Given the description of an element on the screen output the (x, y) to click on. 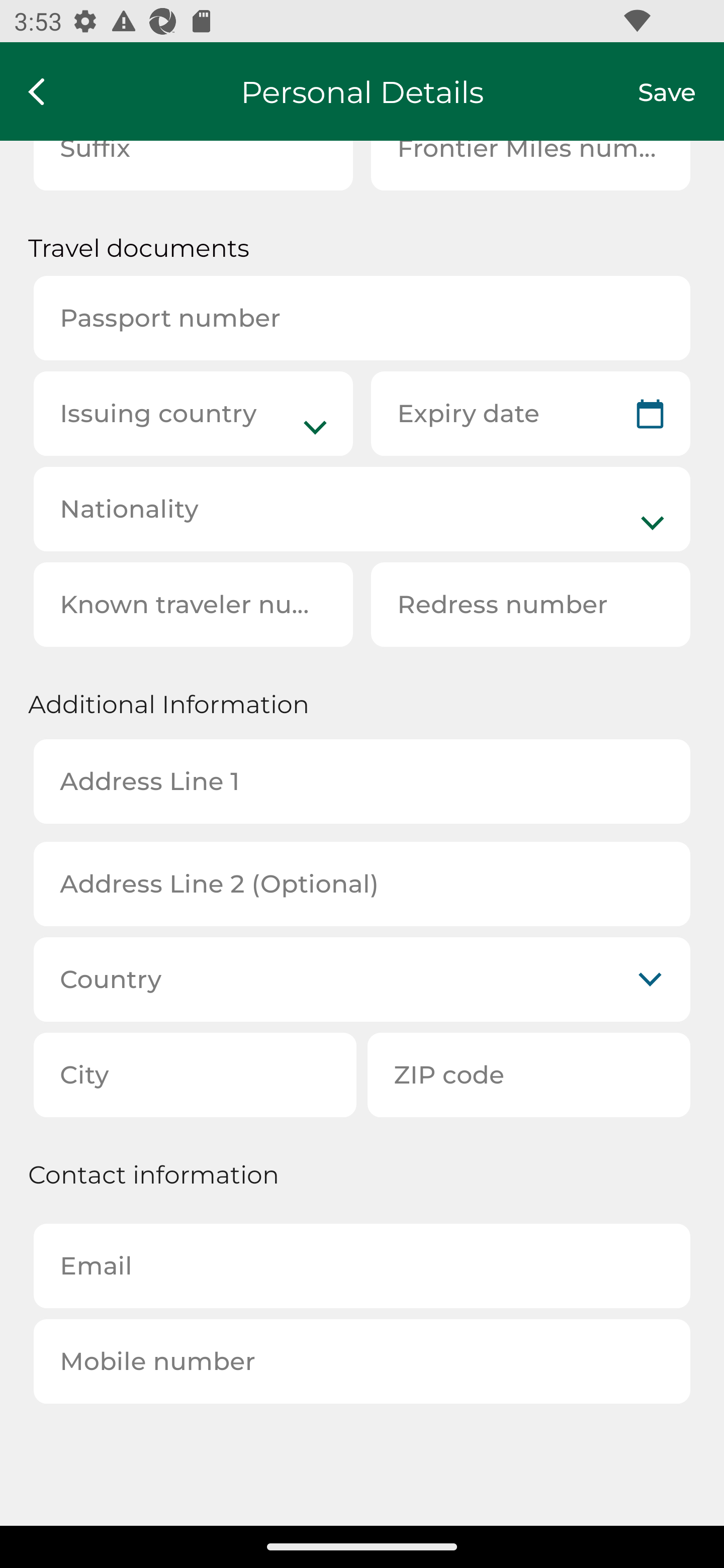
Save (680, 91)
Passport number (361, 318)
Issuing country (192, 413)
Expiry date (530, 413)
Nationality (361, 508)
Known traveler number (192, 604)
Redress number (530, 604)
Address Line 1 (361, 781)
Address Line 2 (Optional) (361, 884)
Country (361, 978)
City (194, 1074)
ZIP code (528, 1074)
Email (361, 1265)
Mobile number (361, 1360)
